Given the description of an element on the screen output the (x, y) to click on. 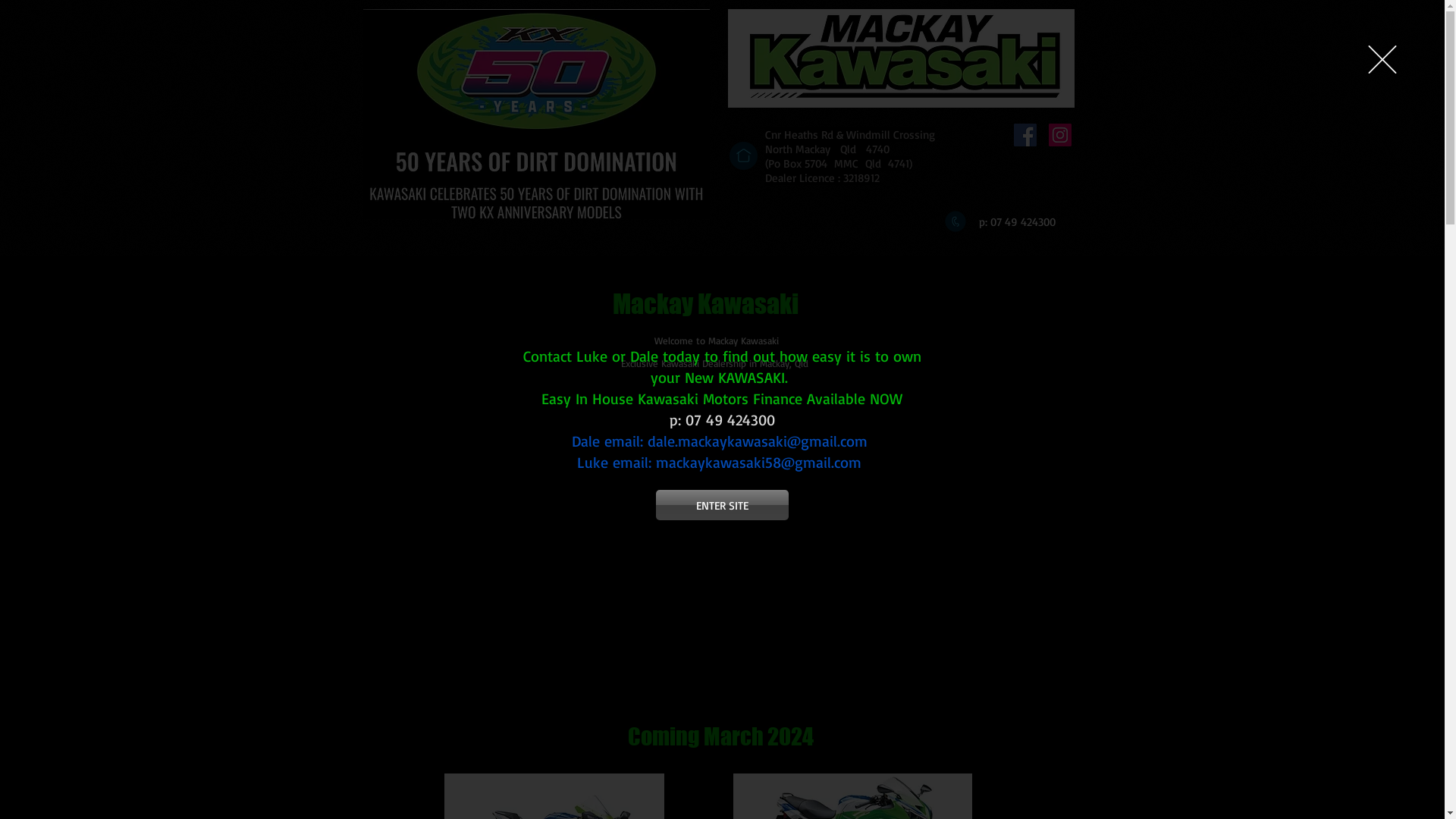
dale.mackaykawasaki@gmail.com Element type: text (756, 440)
mackaykawasaki58@gmail.com Element type: text (758, 461)
Back to site Element type: hover (1382, 59)
